Given the description of an element on the screen output the (x, y) to click on. 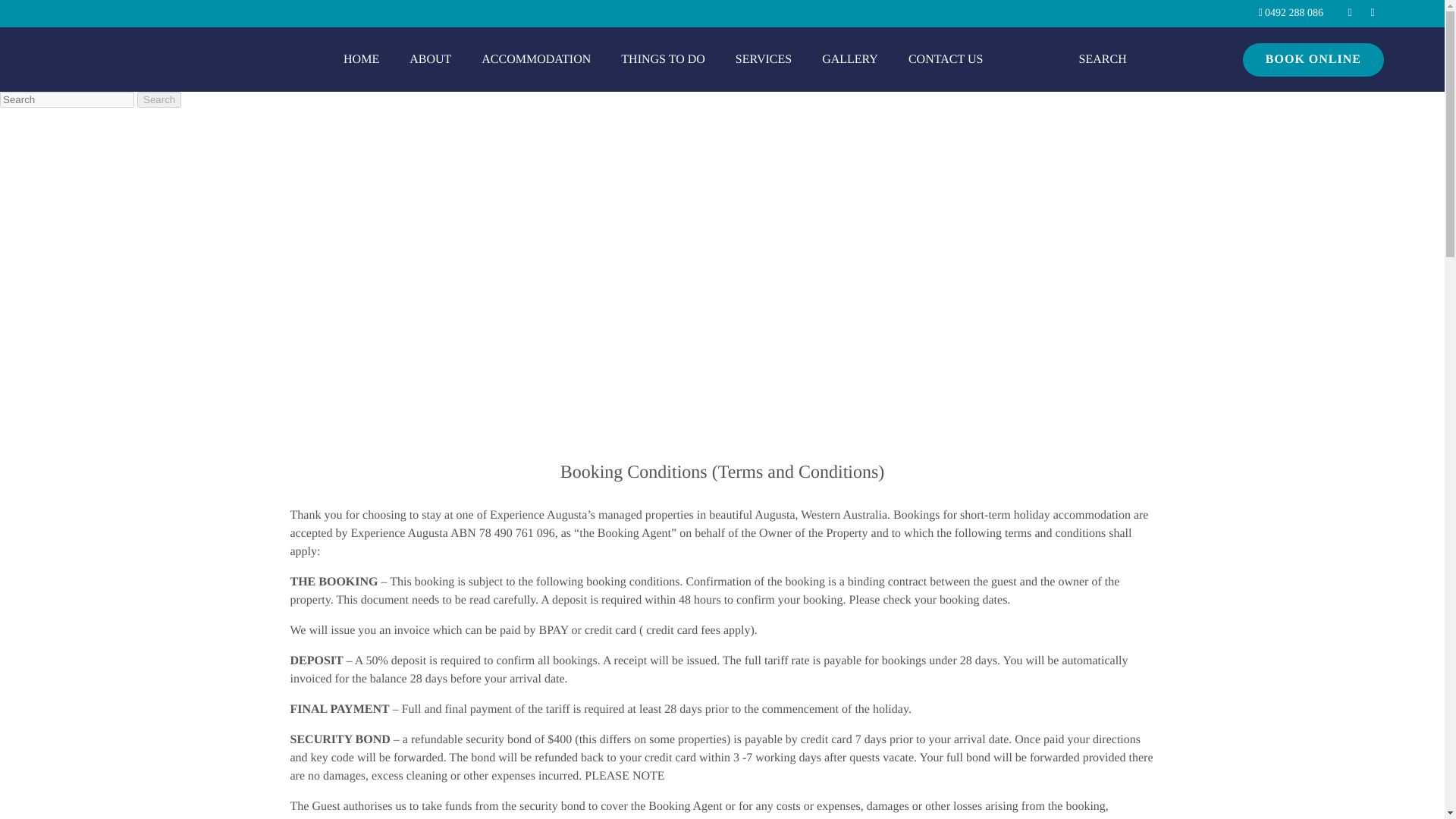
BOOK ONLINE (1352, 70)
Search (810, 9)
0492 288 086 (1319, 13)
